Given the description of an element on the screen output the (x, y) to click on. 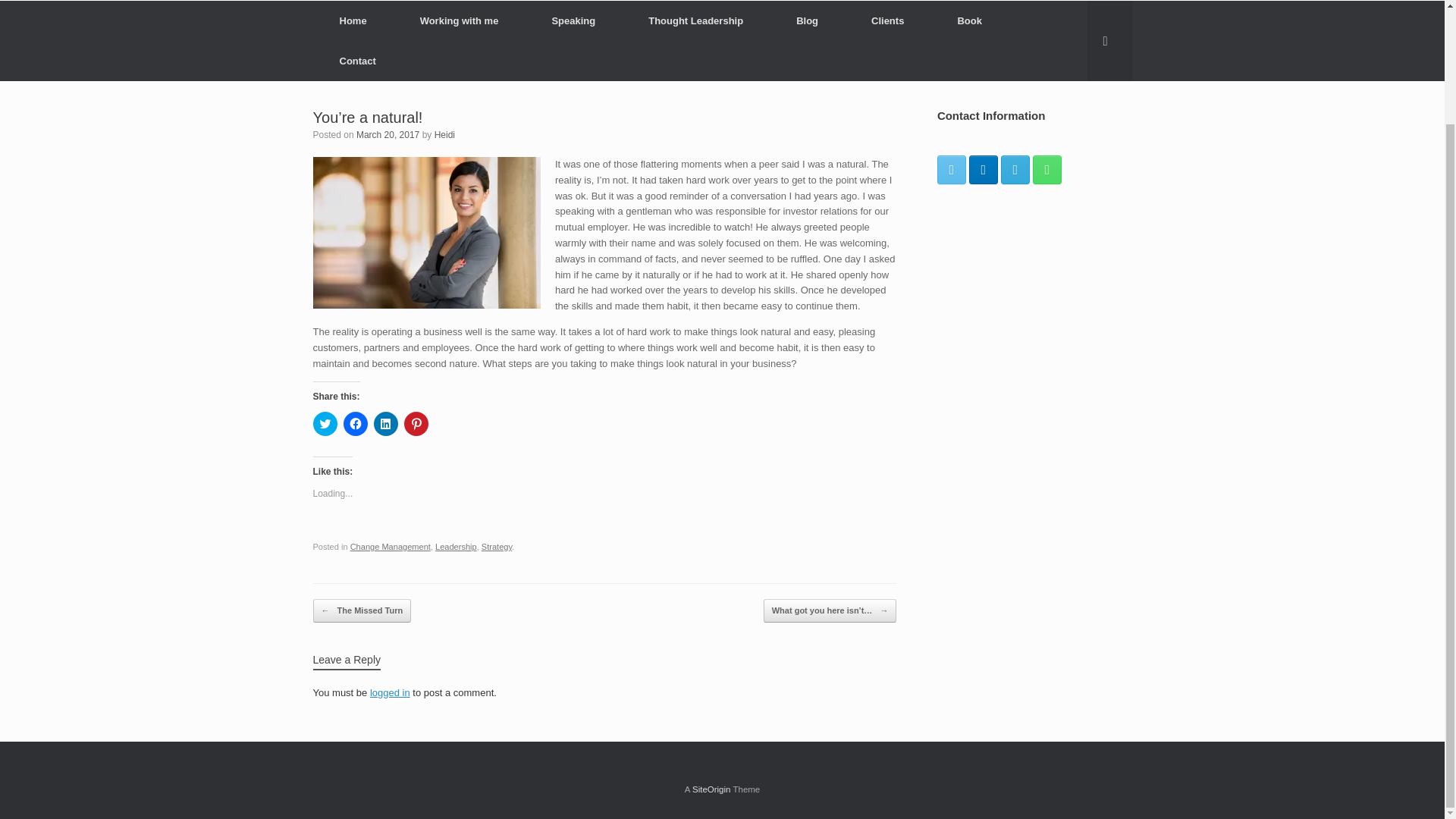
Pozzo Consulting Email (1015, 168)
Contact (357, 60)
Leadership (456, 546)
Strategy (496, 546)
Click to share on LinkedIn (384, 423)
Pozzo Consulting LinkedIn (983, 168)
Blog (807, 20)
logged in (389, 692)
Thought Leadership (695, 20)
Change Management (390, 546)
View all posts by Heidi (443, 134)
Home (353, 20)
Click to share on Facebook (354, 423)
2:27 pm (387, 134)
Click to share on Pinterest (415, 423)
